Given the description of an element on the screen output the (x, y) to click on. 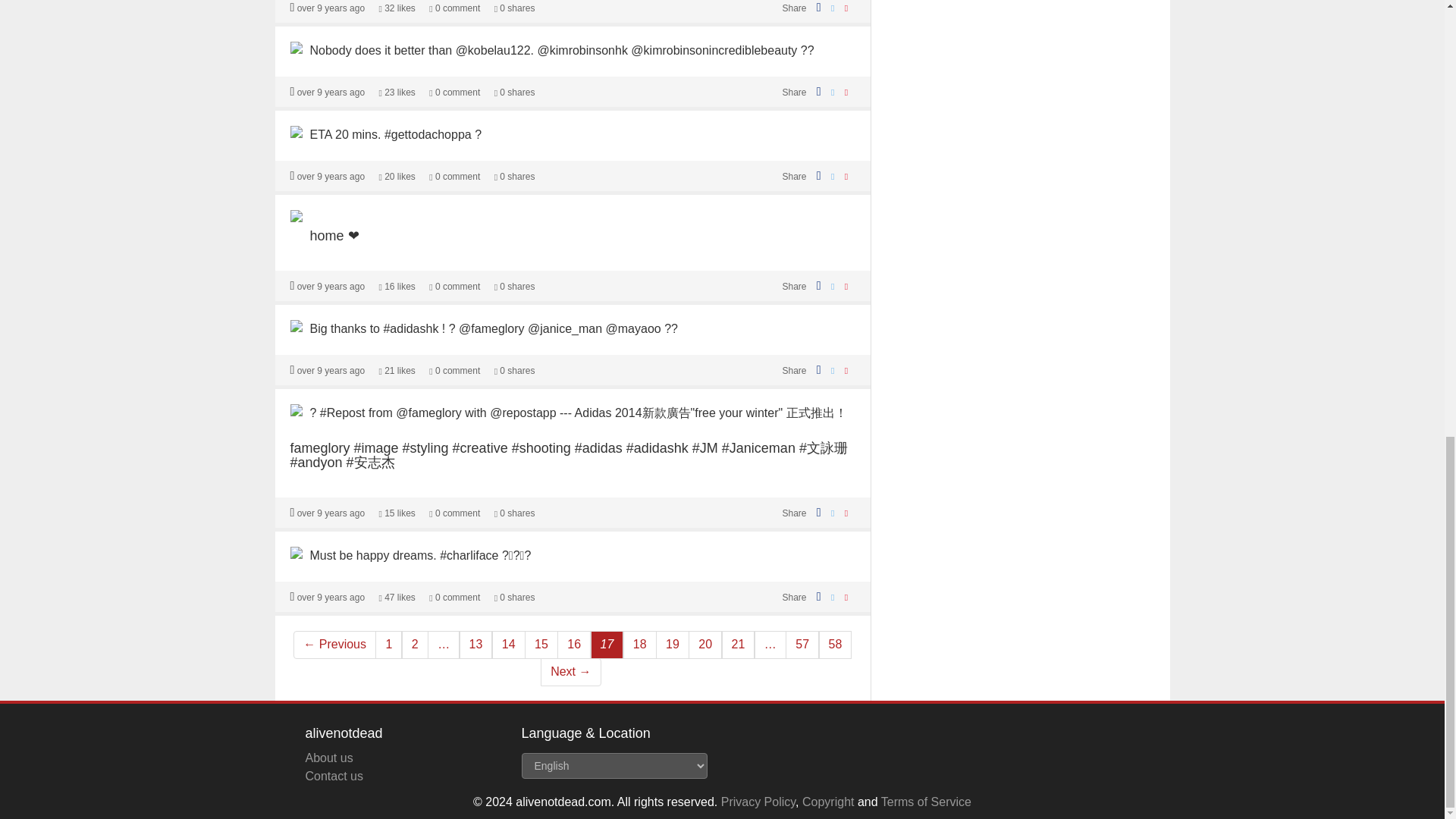
over 9 years ago (331, 176)
over 9 years ago (331, 91)
 0 comment (454, 8)
 0 comment (454, 91)
 0 comment (454, 176)
over 9 years ago (331, 8)
